Given the description of an element on the screen output the (x, y) to click on. 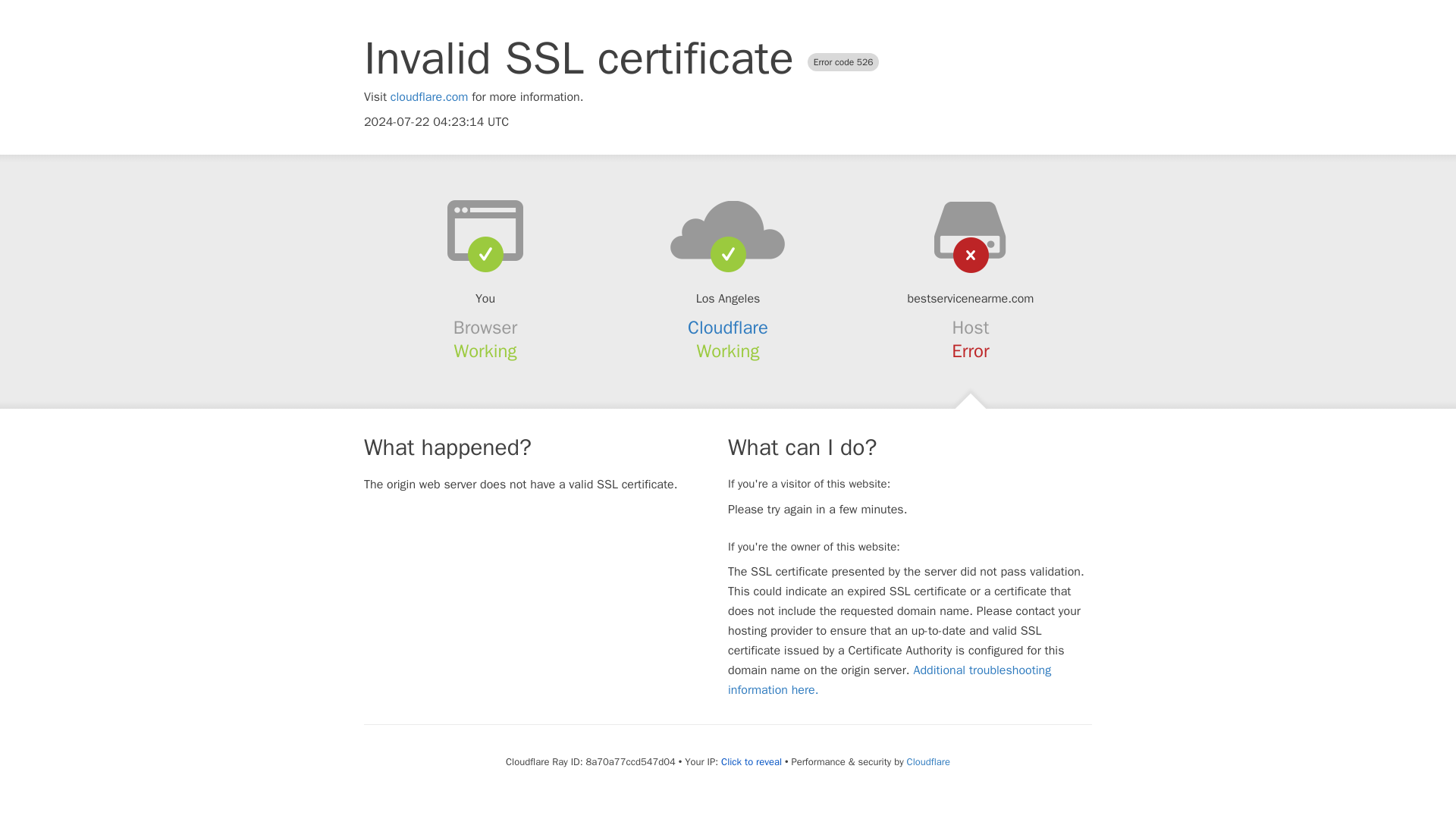
cloudflare.com (429, 96)
Click to reveal (750, 762)
Additional troubleshooting information here. (889, 679)
Cloudflare (928, 761)
Cloudflare (727, 327)
